Given the description of an element on the screen output the (x, y) to click on. 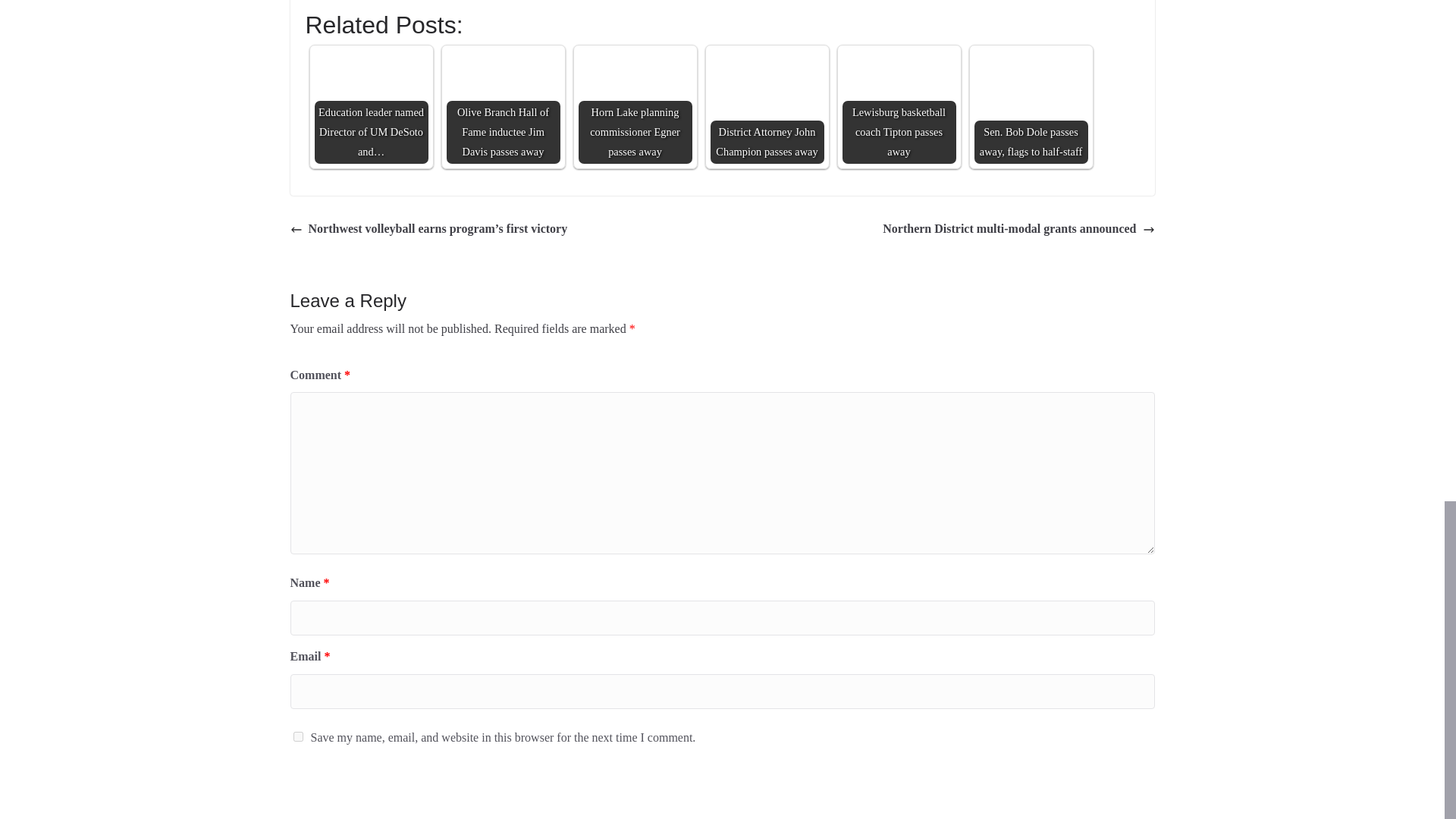
Sen. Bob Dole passes away, flags to half-staff (1030, 87)
Olive Branch Hall of Fame inductee Jim Davis passes away (502, 106)
District Attorney John Champion passes away (767, 81)
yes (297, 737)
Lewisburg basketball coach Tipton passes away (898, 87)
Horn Lake planning commissioner Egner passes away (634, 106)
